Given the description of an element on the screen output the (x, y) to click on. 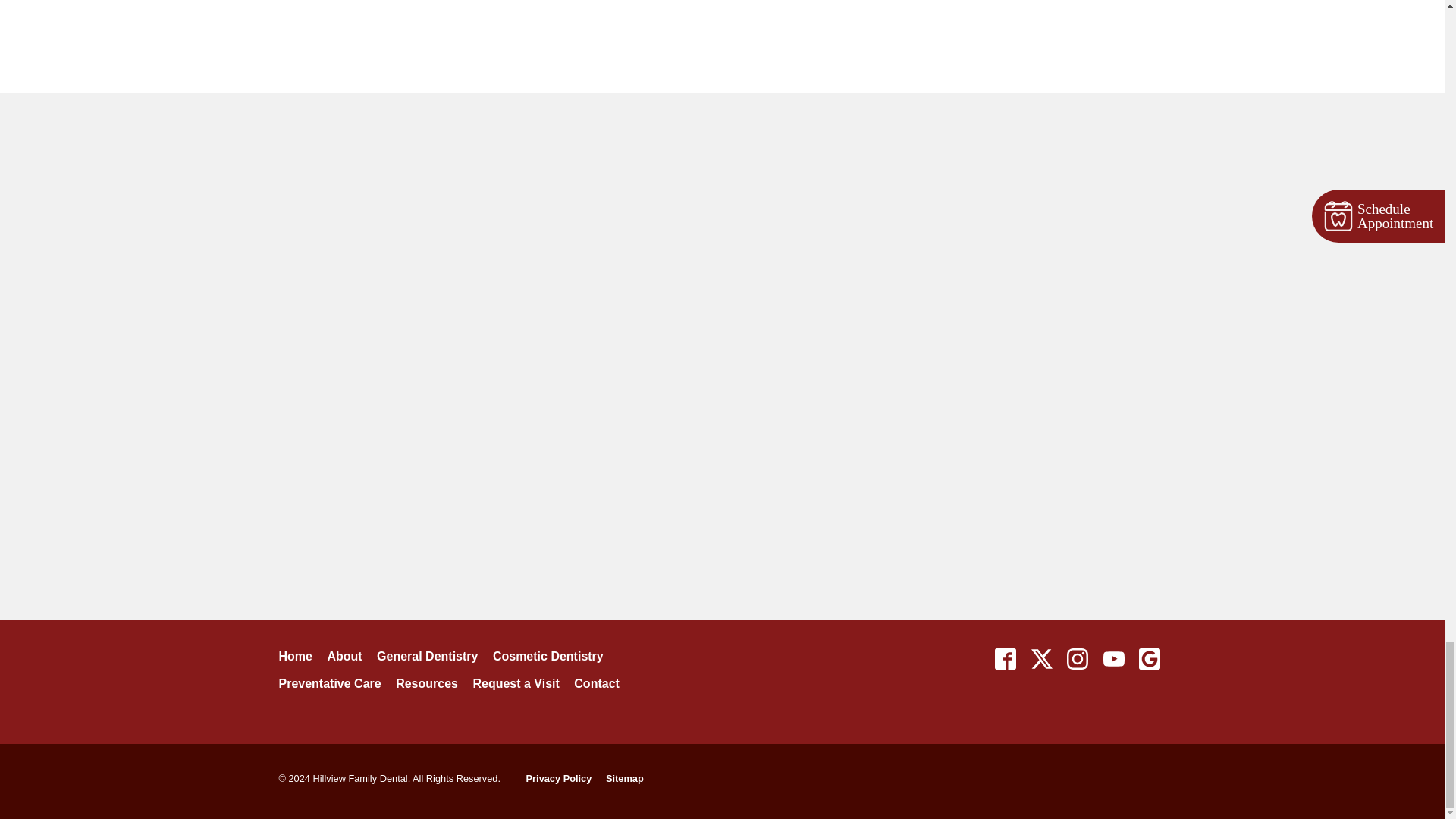
youtube (1113, 658)
twitter (1041, 658)
google (1149, 658)
instagram (1077, 658)
facebook (1006, 658)
